Given the description of an element on the screen output the (x, y) to click on. 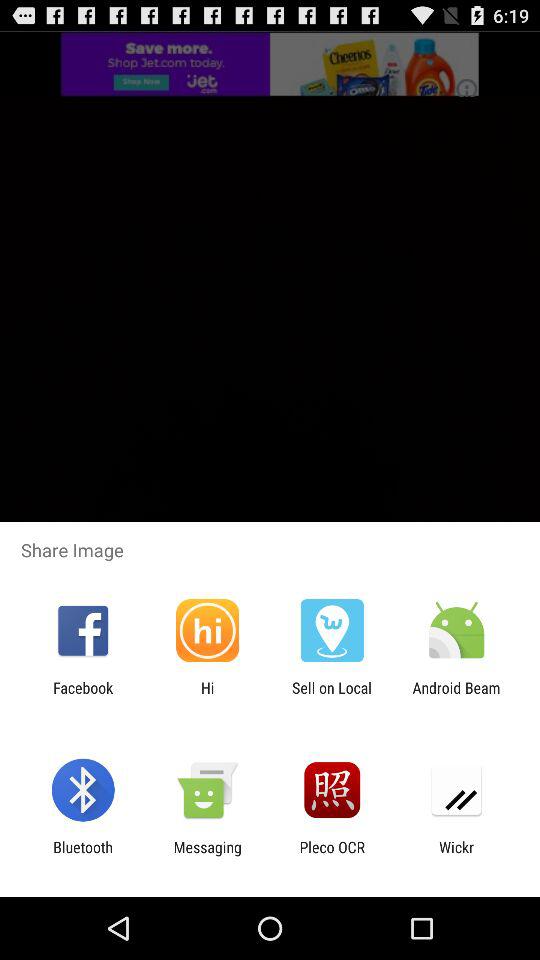
press item to the left of the sell on local app (207, 696)
